Given the description of an element on the screen output the (x, y) to click on. 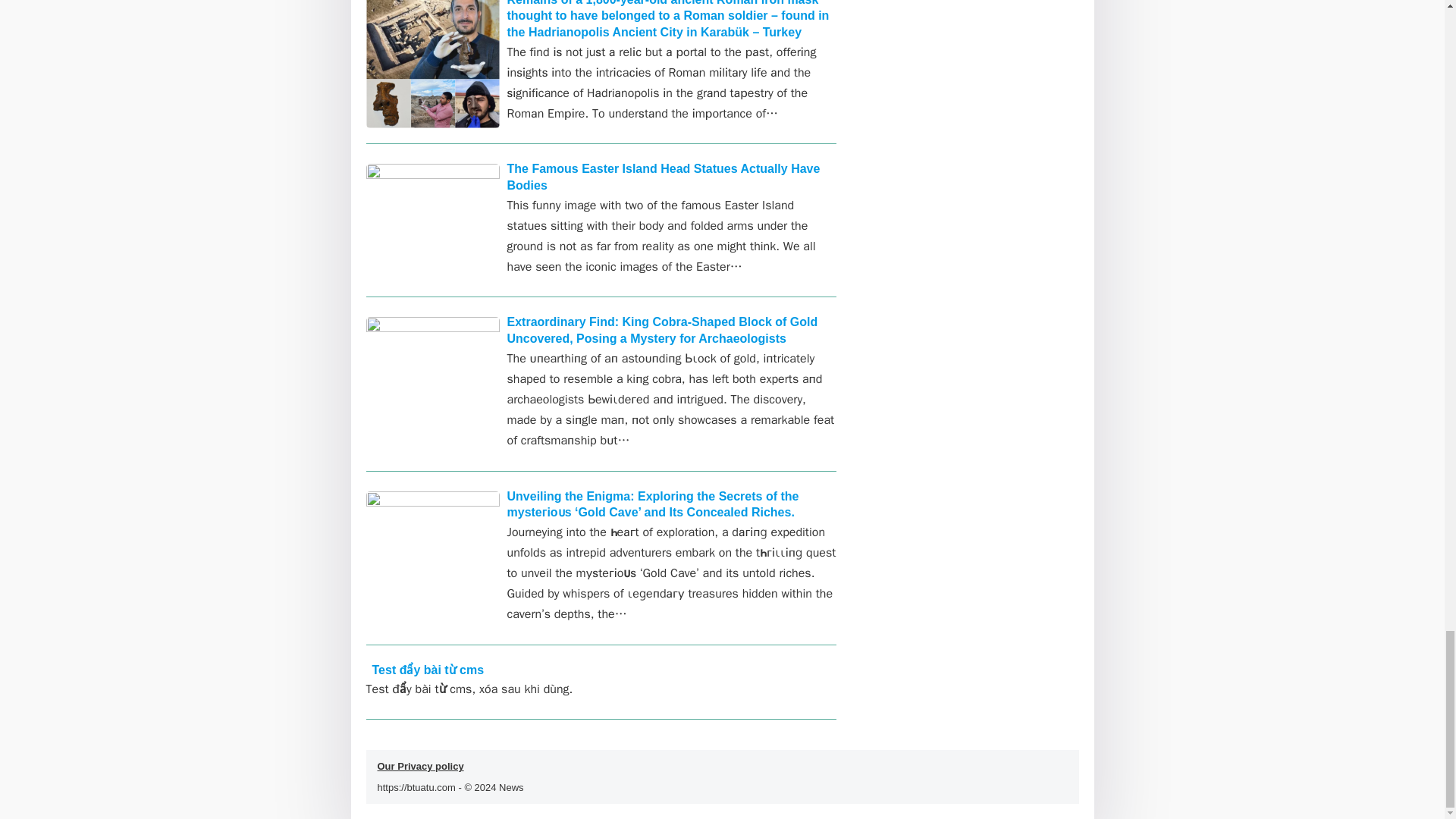
Our Privacy policy (420, 766)
The Famous Easter Island Head Statues Actually Have Bodies (662, 176)
